Given the description of an element on the screen output the (x, y) to click on. 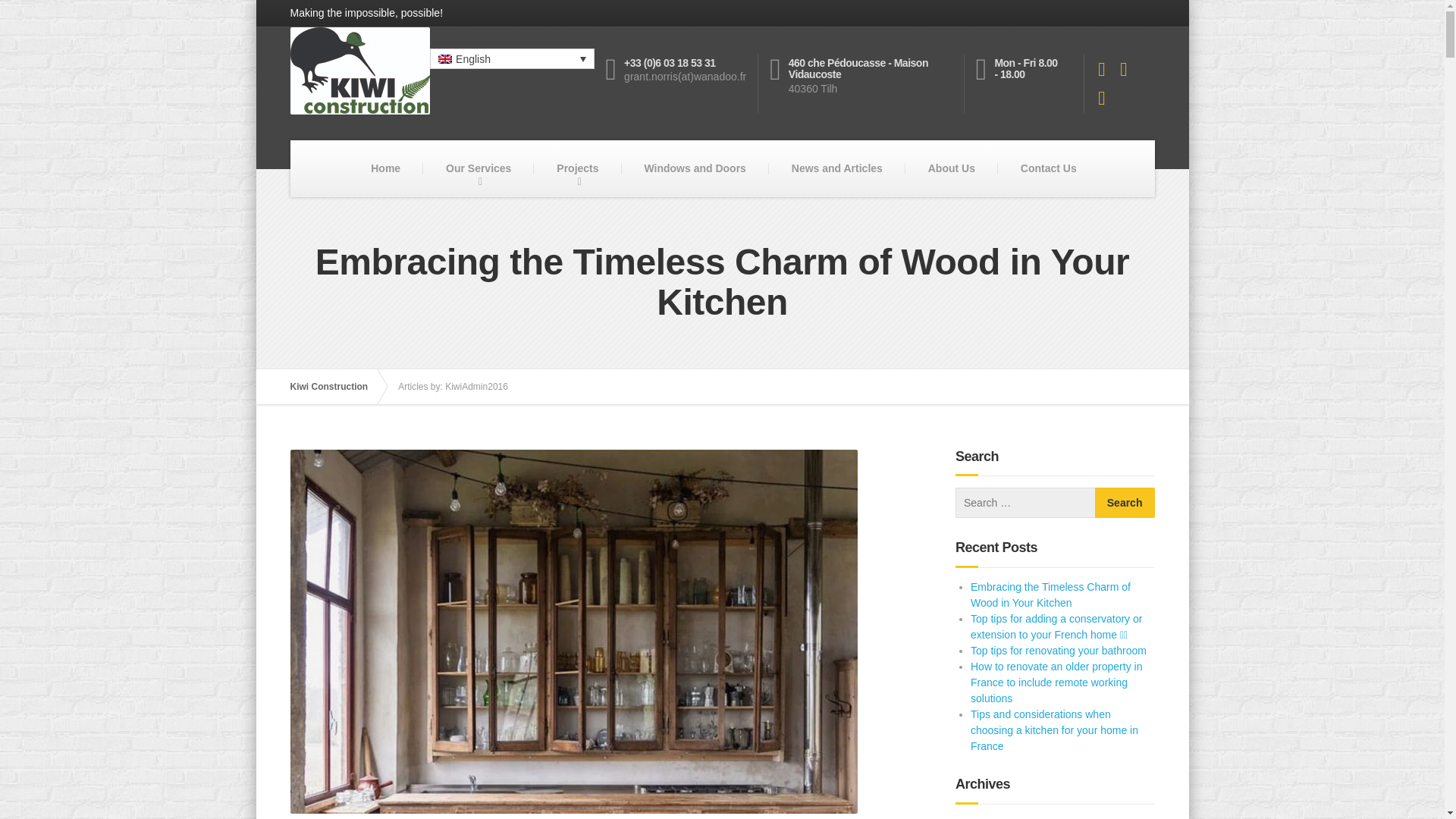
Search (1124, 502)
Home (385, 168)
Go to Kiwi Construction. (335, 386)
Contact Us (1048, 168)
Search (1124, 502)
Projects (577, 168)
News and Articles (836, 168)
English (511, 58)
About Us (951, 168)
Windows and Doors (694, 168)
Our Services (478, 168)
